Given the description of an element on the screen output the (x, y) to click on. 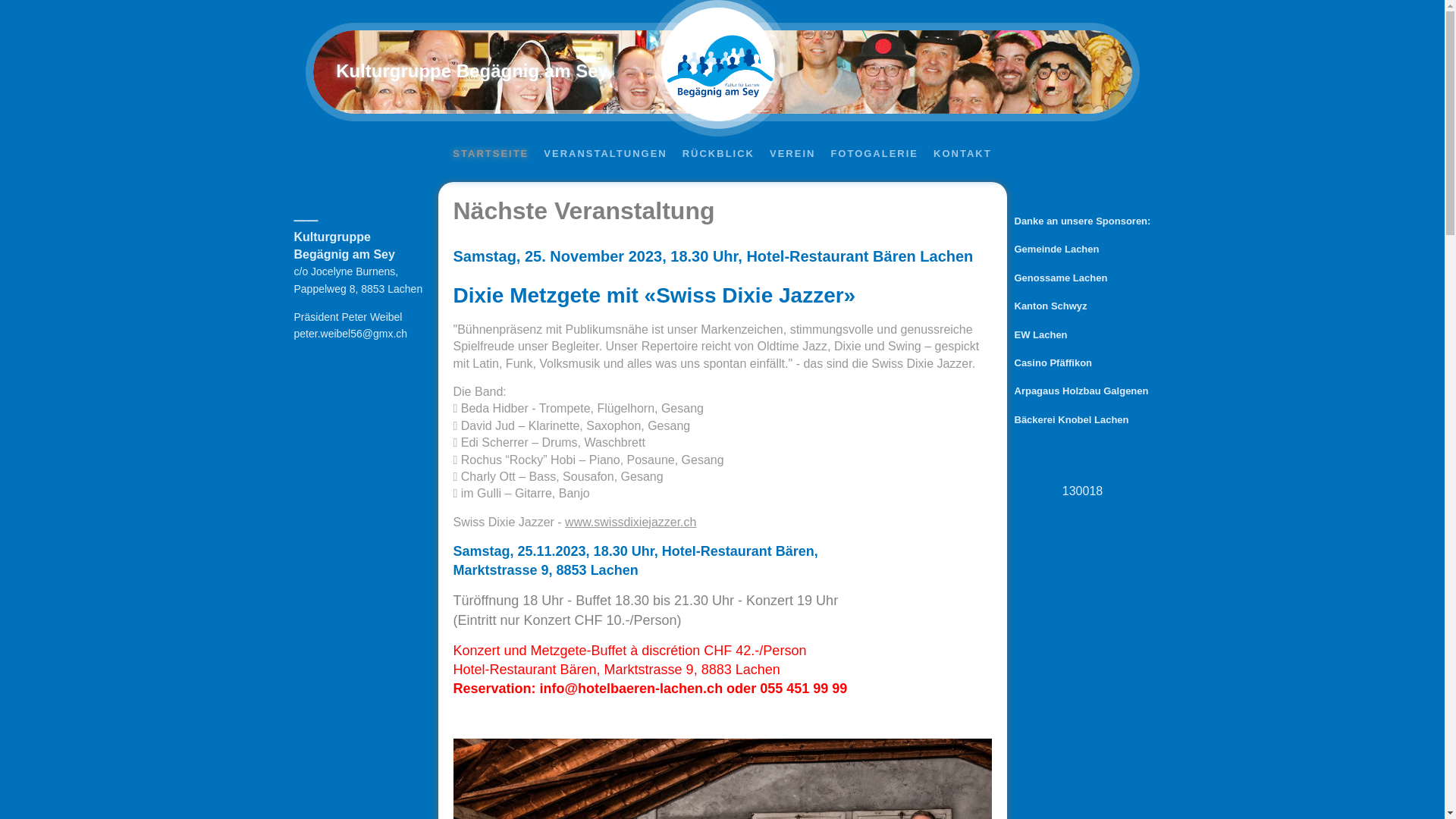
VERANSTALTUNGEN Element type: text (604, 153)
KONTAKT Element type: text (962, 153)
VEREIN Element type: text (792, 153)
STARTSEITE Element type: text (490, 153)
www.swissdixiejazzer.ch Element type: text (630, 521)
FOTOGALERIE Element type: text (874, 153)
